Given the description of an element on the screen output the (x, y) to click on. 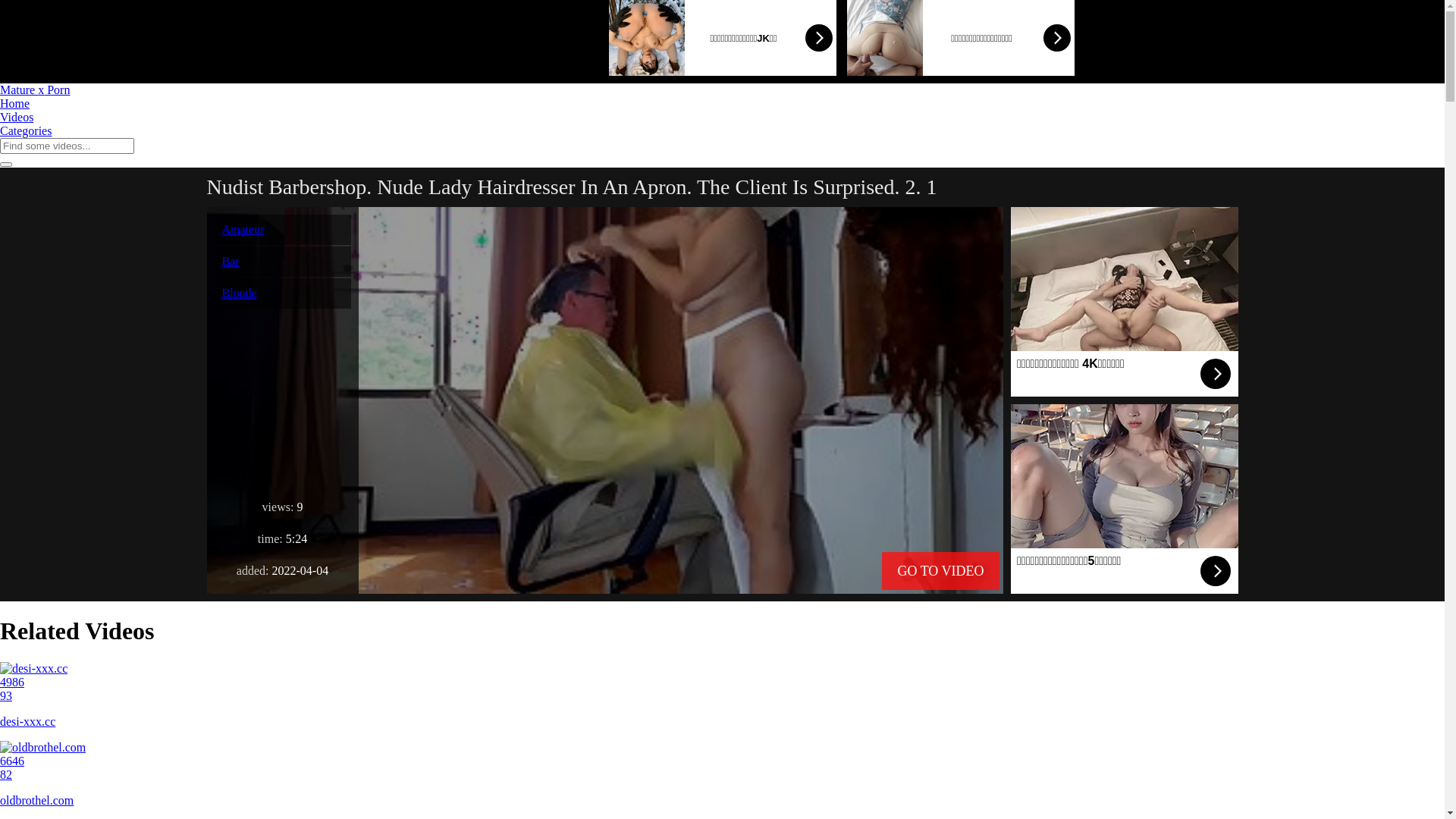
Videos Element type: text (16, 116)
Categories Element type: text (25, 130)
6646
82
oldbrothel.com Element type: text (722, 773)
Blonde Element type: text (238, 292)
Mature x Porn Element type: text (34, 89)
Home Element type: text (14, 103)
Find Element type: hover (6, 164)
4986
93
desi-xxx.cc Element type: text (722, 695)
Amateur Element type: text (242, 228)
Bar Element type: text (229, 260)
